Given the description of an element on the screen output the (x, y) to click on. 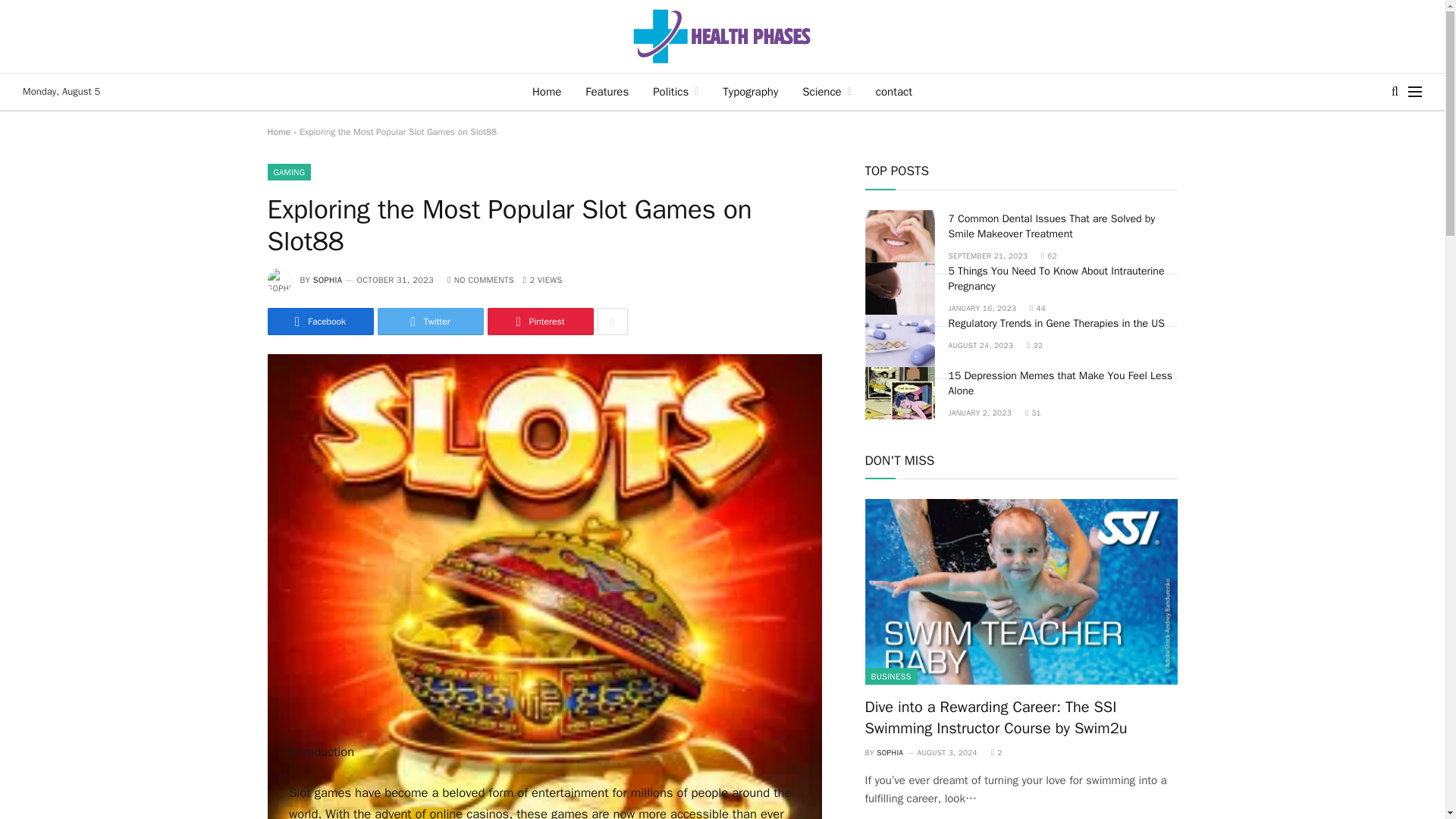
Facebook (319, 320)
Features (606, 91)
Science (826, 91)
contact (893, 91)
NO COMMENTS (479, 279)
Twitter (430, 320)
Home (546, 91)
GAMING (288, 171)
Typography (750, 91)
Health Phases (721, 36)
SOPHIA (327, 279)
Pinterest (539, 320)
Politics (675, 91)
Home (277, 132)
